Given the description of an element on the screen output the (x, y) to click on. 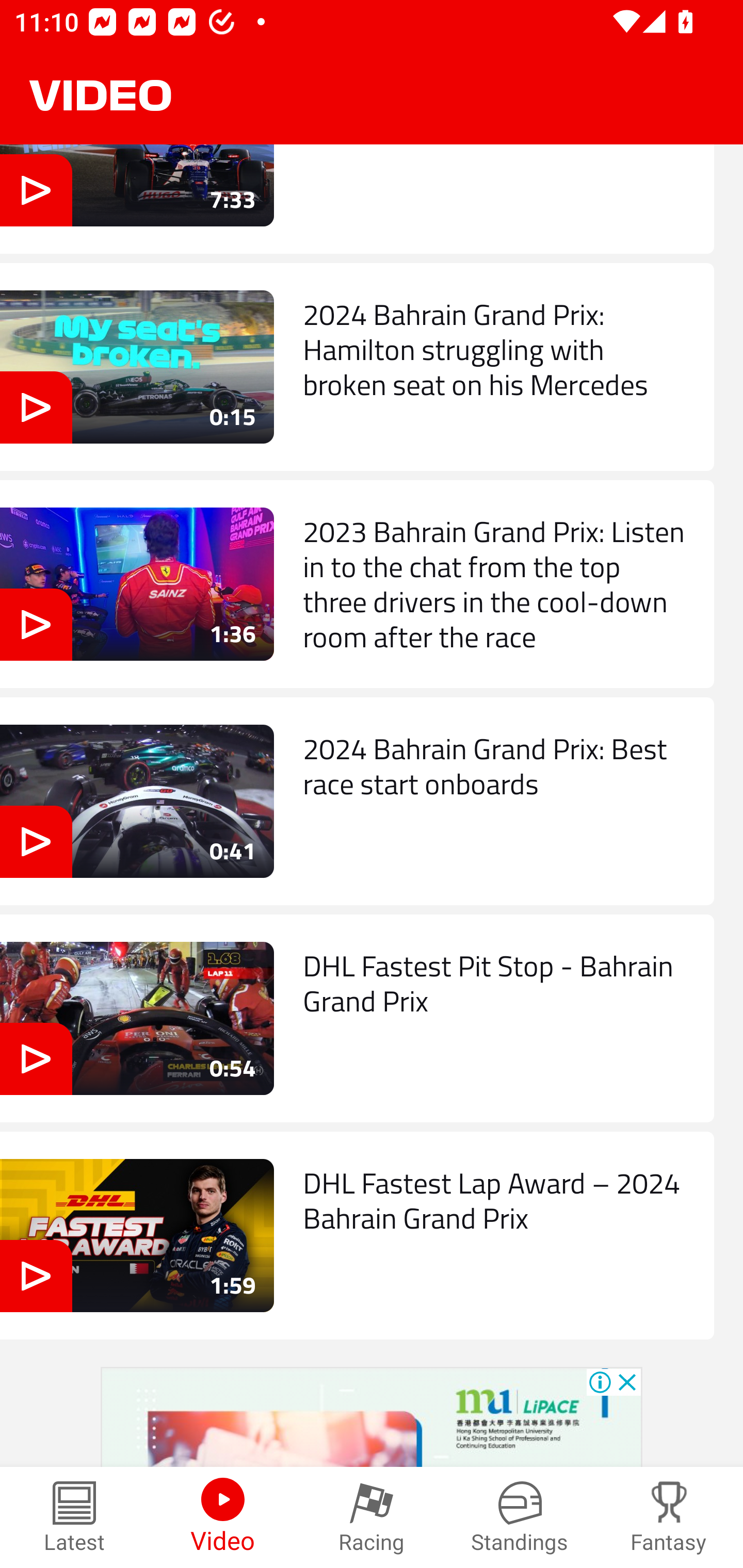
0:54 DHL Fastest Pit Stop - Bahrain Grand Prix (357, 1018)
Latest (74, 1517)
Racing (371, 1517)
Standings (519, 1517)
Fantasy (668, 1517)
